Given the description of an element on the screen output the (x, y) to click on. 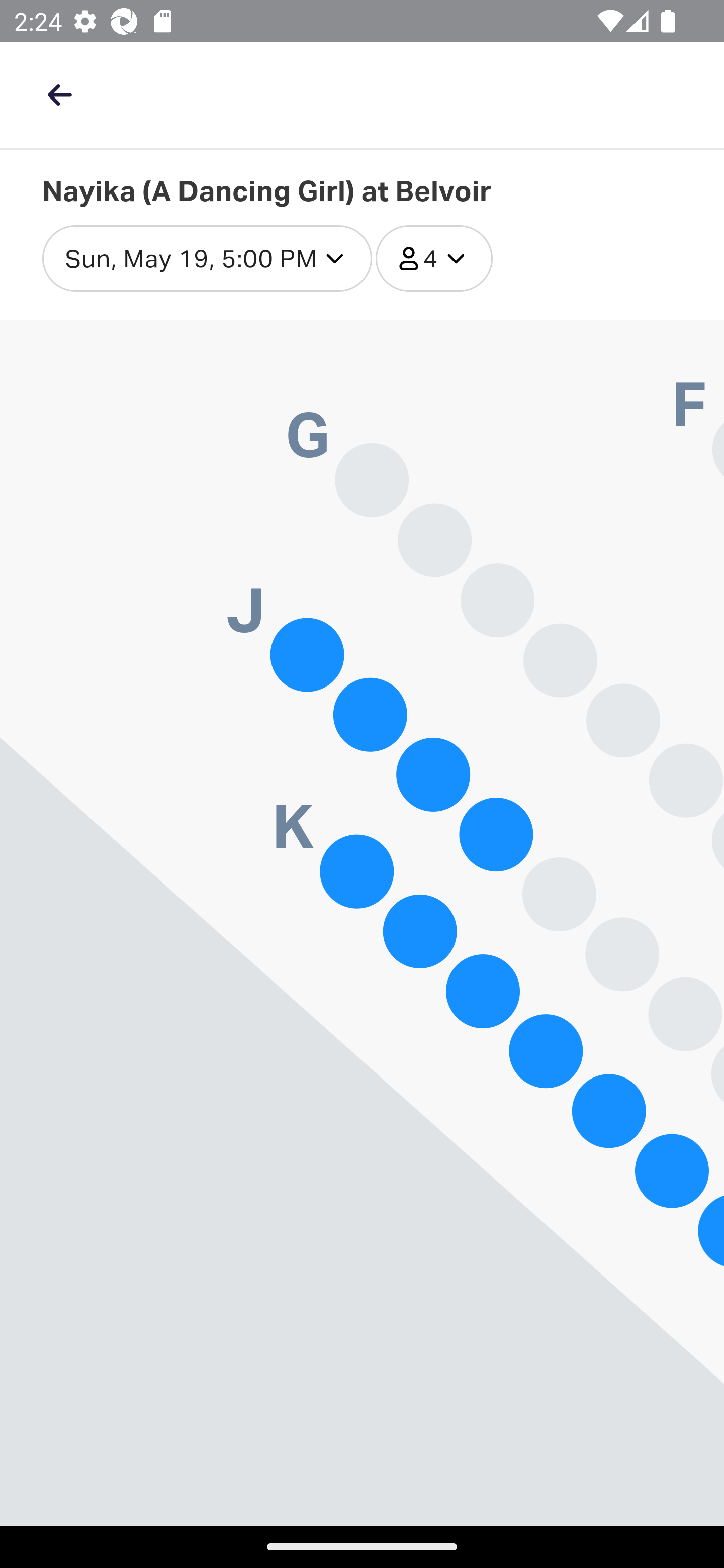
back button (59, 94)
Sun, May 19, 5:00 PM (206, 259)
4 (434, 259)
